Given the description of an element on the screen output the (x, y) to click on. 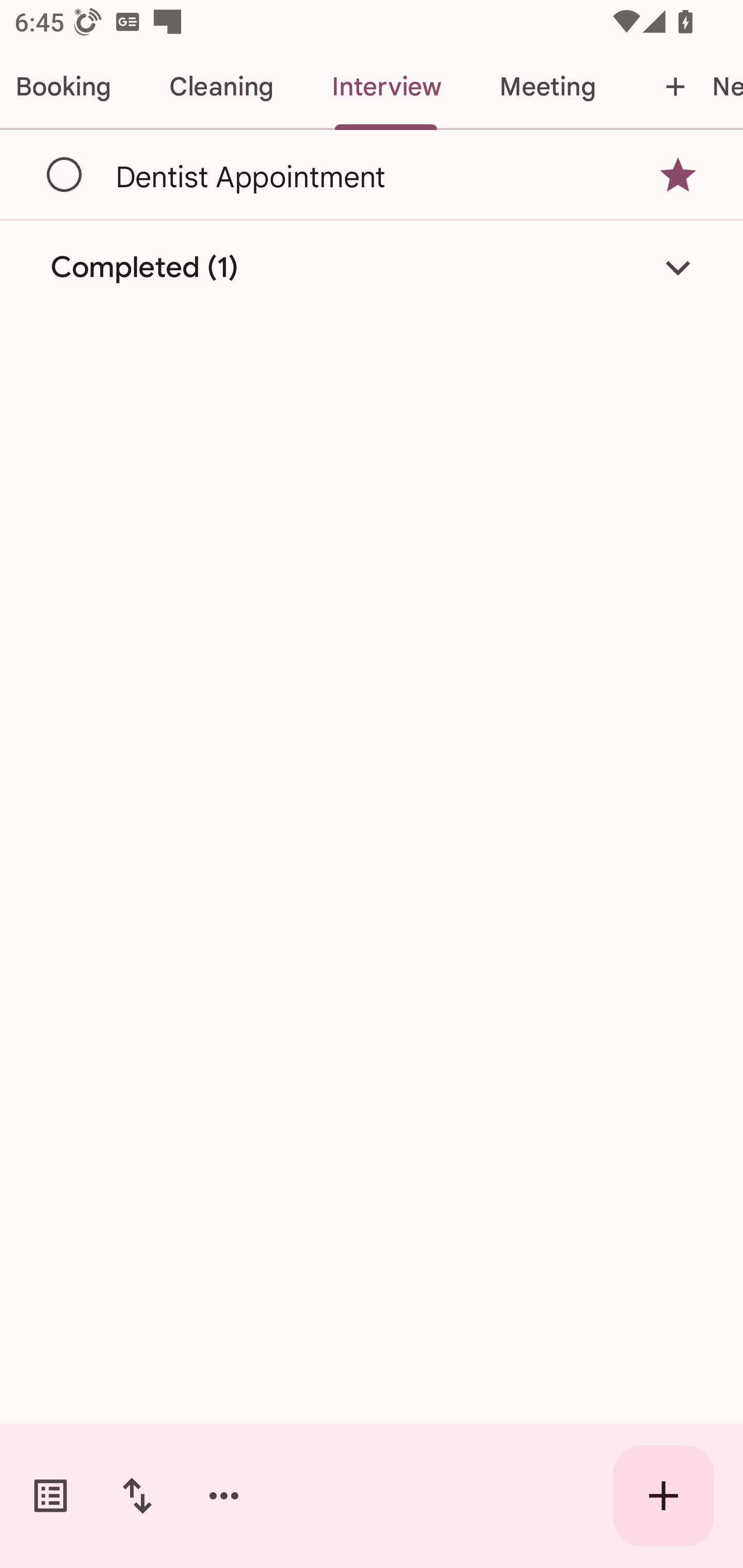
Hotel Booking (69, 86)
Cleaning (220, 86)
Meeting (547, 86)
Remove star (677, 174)
Mark as complete (64, 175)
Completed (1) (371, 268)
Switch task lists (50, 1495)
Create new task (663, 1495)
Change sort order (136, 1495)
More options (223, 1495)
